Given the description of an element on the screen output the (x, y) to click on. 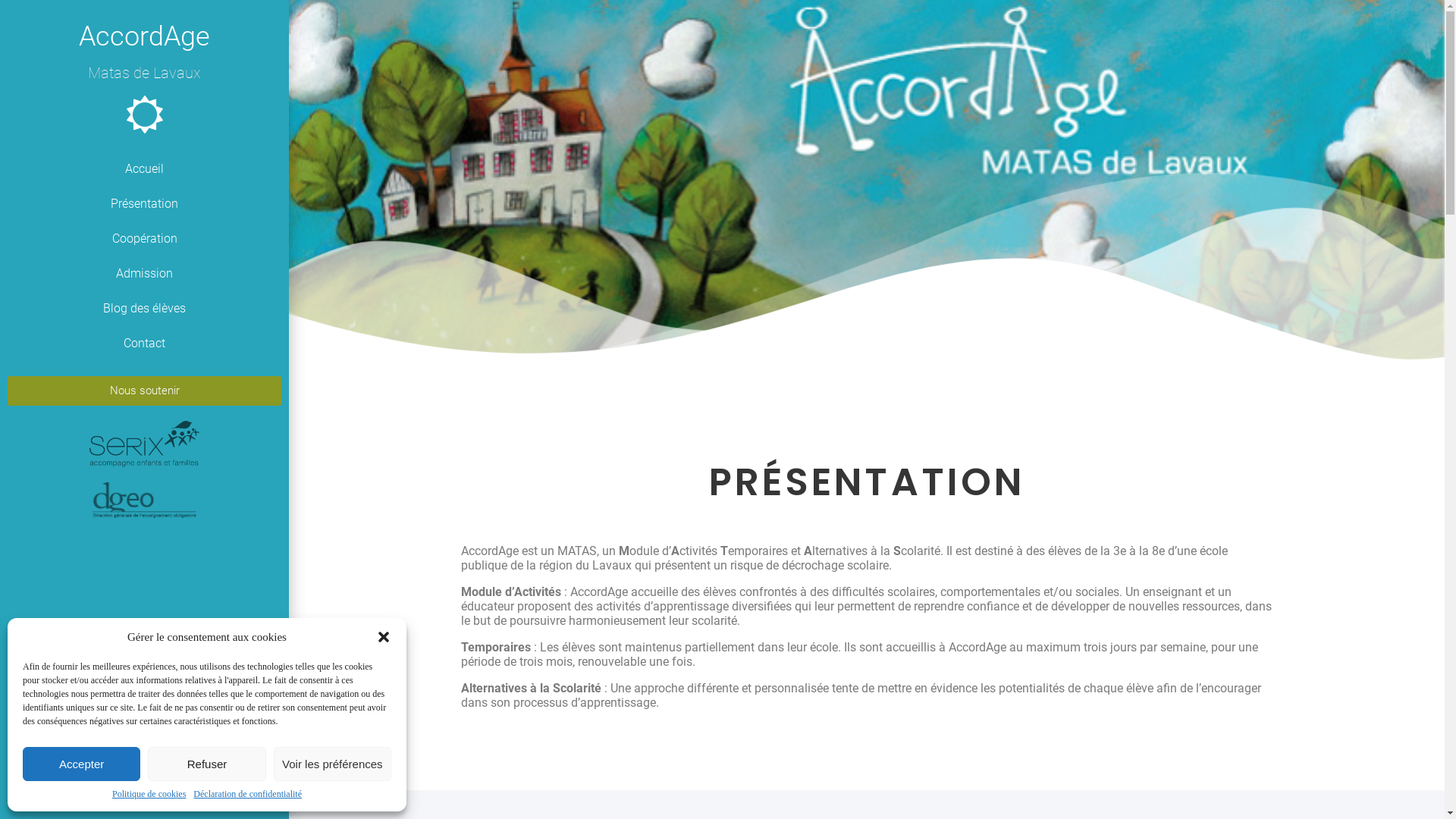
Contact Element type: text (144, 343)
Politique de cookies Element type: text (148, 794)
Accueil Element type: text (144, 168)
AccordAge Element type: text (144, 36)
Accepter Element type: text (81, 763)
Refuser Element type: text (206, 763)
Nous soutenir Element type: text (144, 390)
Admission Element type: text (144, 273)
